Given the description of an element on the screen output the (x, y) to click on. 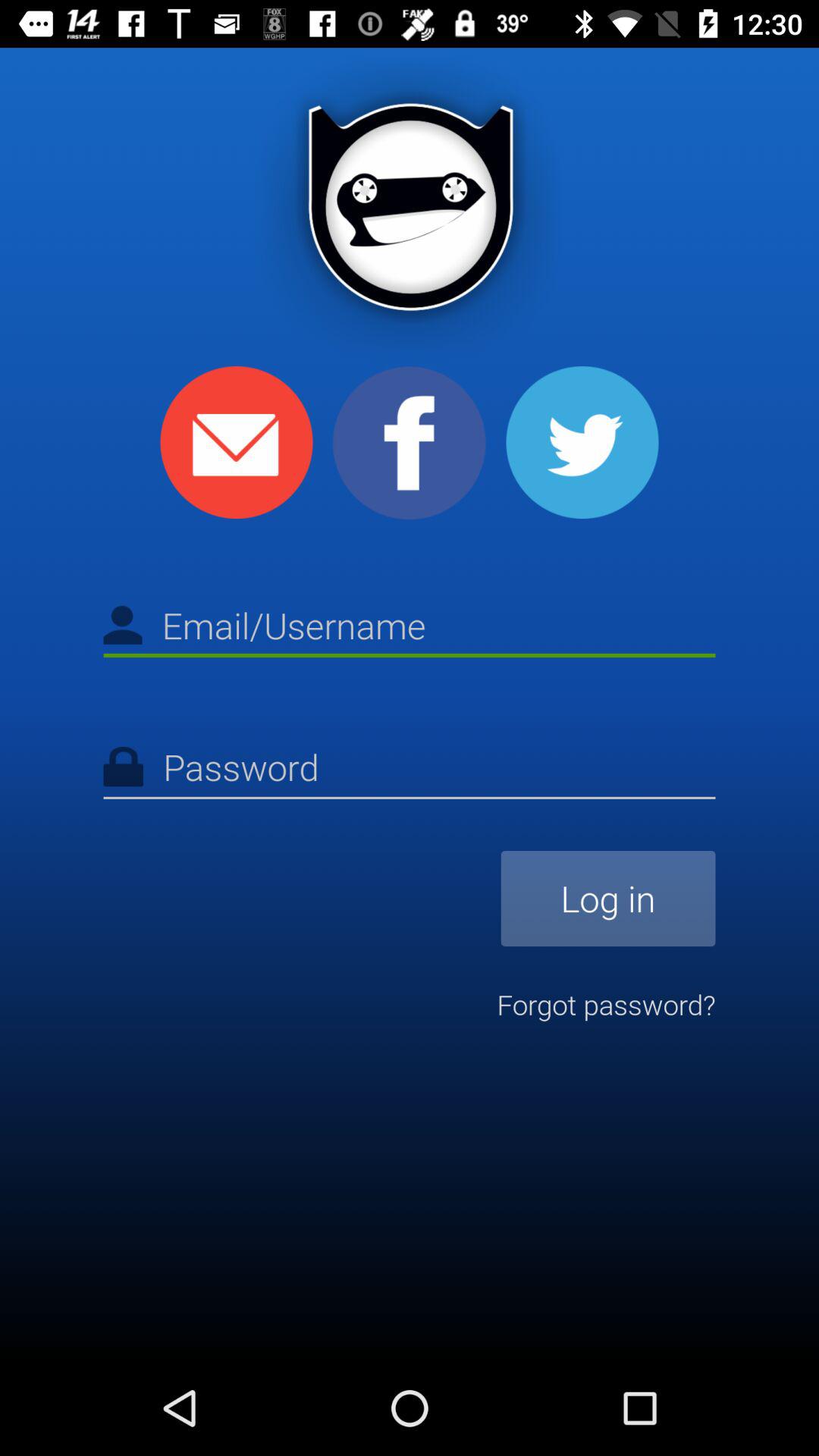
type the password (409, 769)
